Given the description of an element on the screen output the (x, y) to click on. 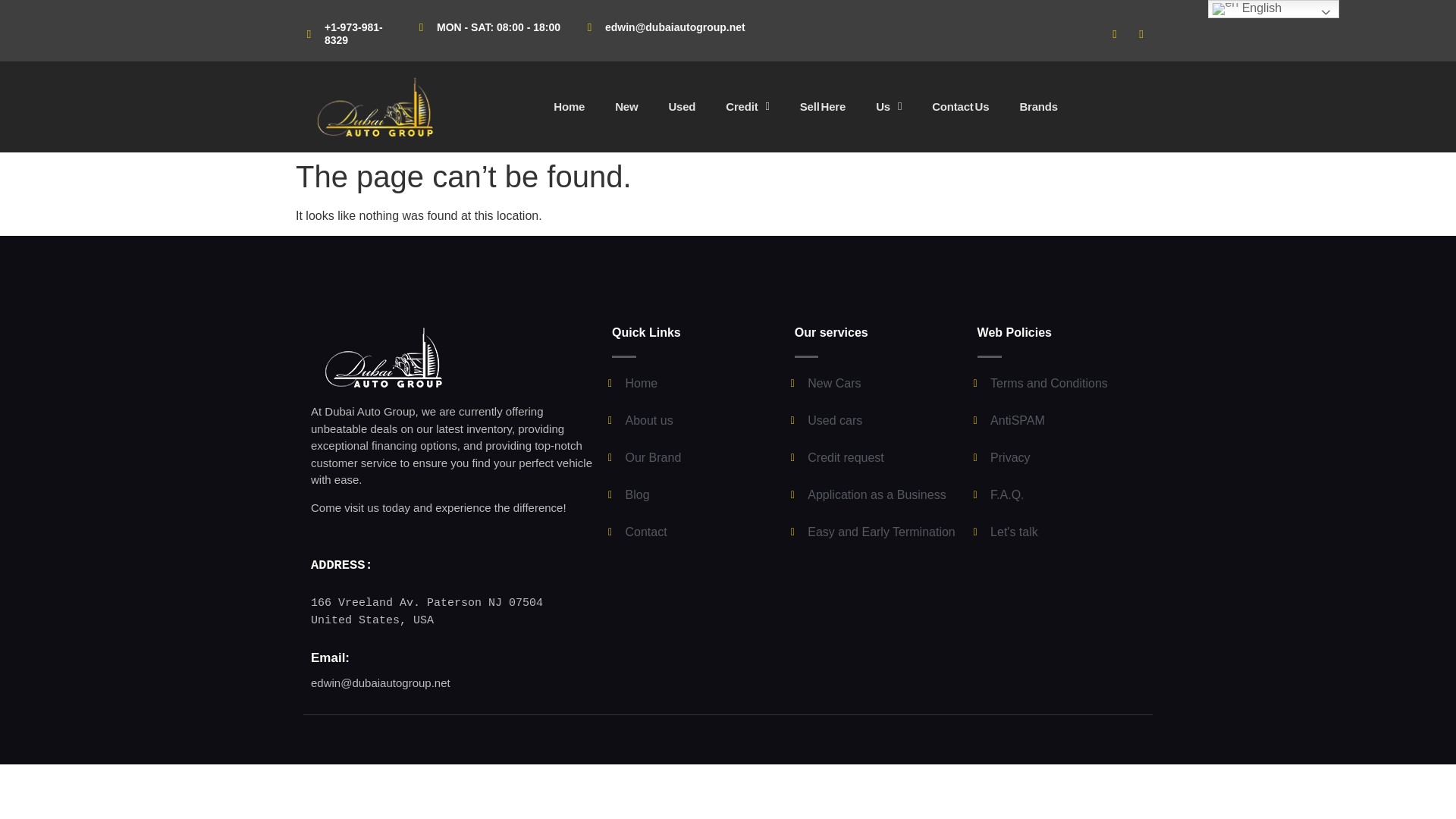
Blog (692, 495)
Home (568, 106)
Brands (1037, 106)
Used (681, 106)
Contact (692, 532)
Contact Us (960, 106)
Application as a Business (874, 495)
Our Brand (692, 457)
Us (888, 106)
About us (692, 420)
